Given the description of an element on the screen output the (x, y) to click on. 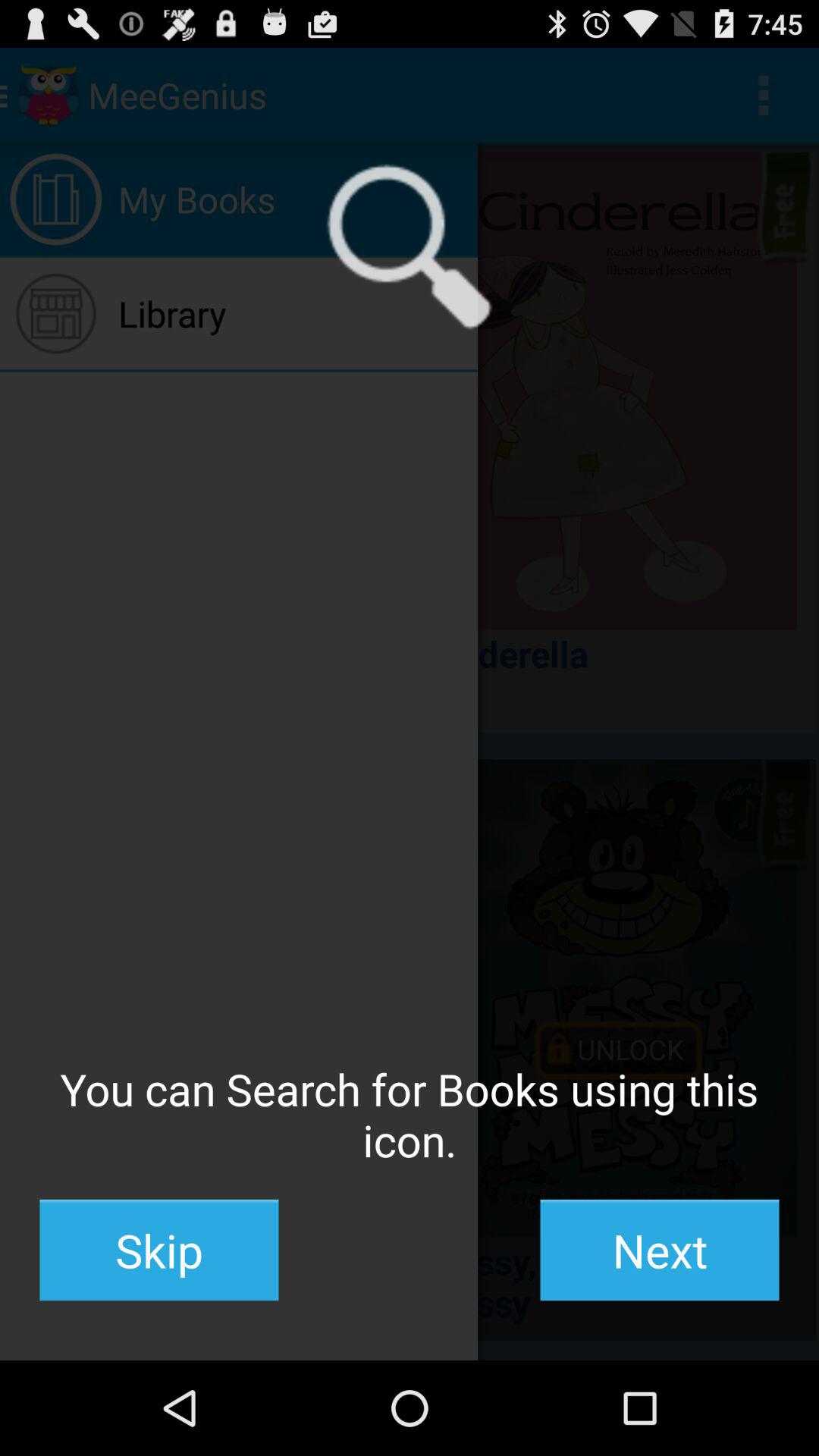
turn off icon next to skip button (659, 1249)
